Given the description of an element on the screen output the (x, y) to click on. 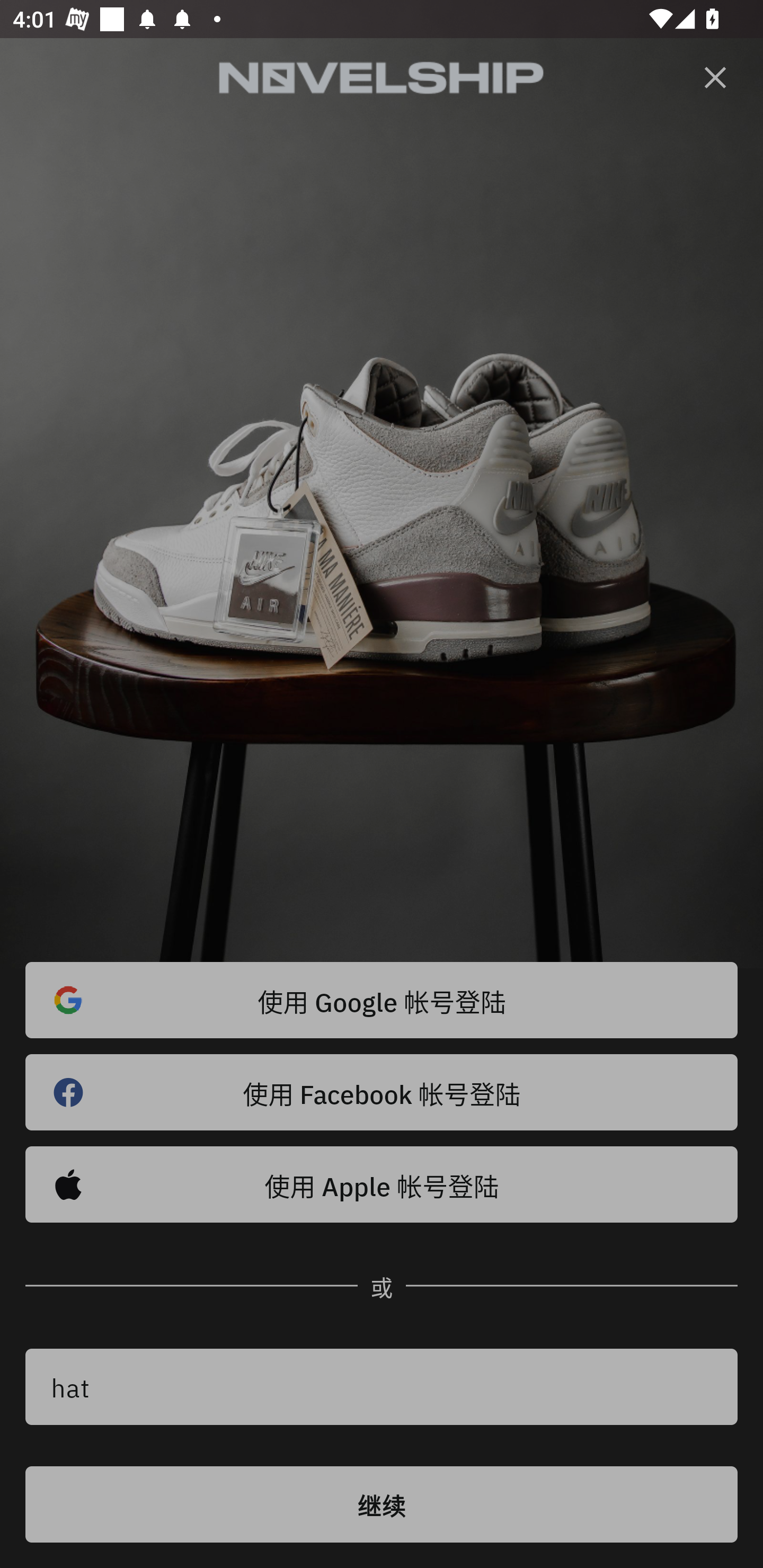
使用 Google 帐号登陆 (381, 1000)
使用 Facebook 帐号登陆 󰈌 (381, 1091)
 使用 Apple 帐号登陆 (381, 1184)
hat (381, 1386)
继续 (381, 1504)
